Given the description of an element on the screen output the (x, y) to click on. 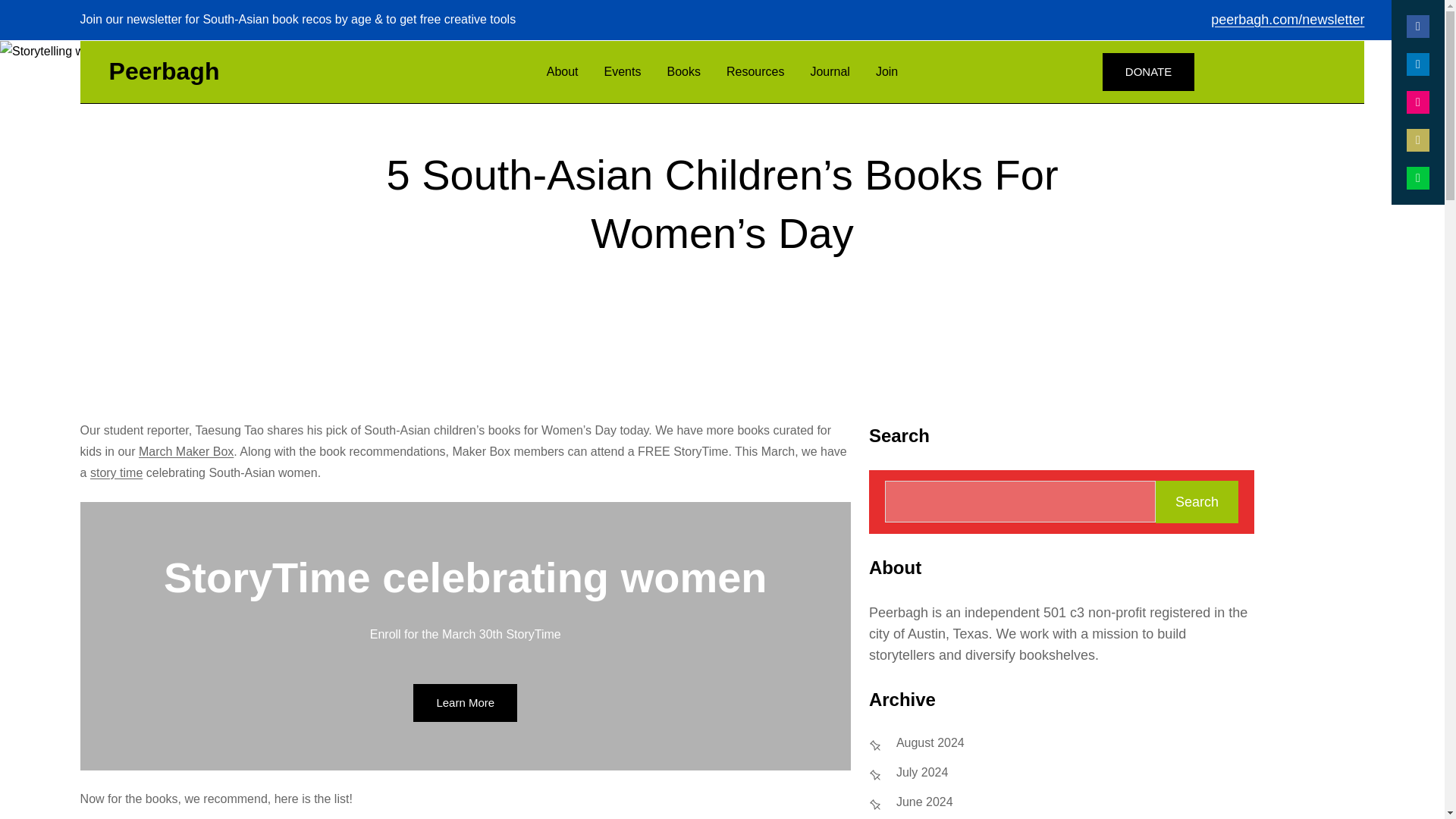
DONATE (1147, 71)
story time (116, 472)
Journal (828, 71)
Resources (755, 71)
Learn More (464, 702)
March Maker Box (185, 451)
Books (683, 71)
August 2024 (929, 742)
July 2024 (922, 772)
About (562, 71)
